Given the description of an element on the screen output the (x, y) to click on. 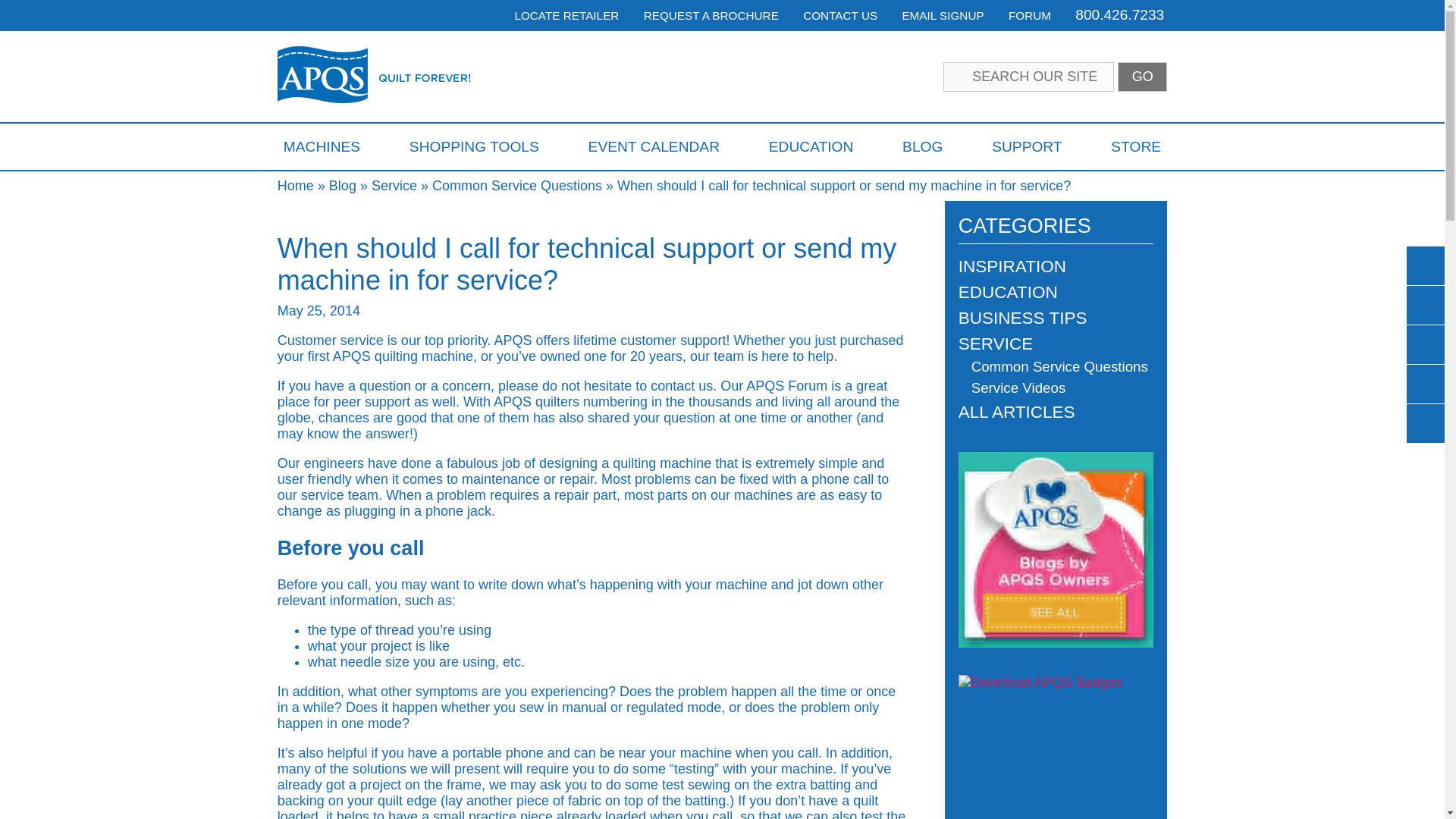
LOCATE RETAILER (566, 15)
REQUEST A BROCHURE (710, 15)
CONTACT US (839, 15)
800.426.7233 (1119, 14)
FORUM (1030, 15)
MACHINES (322, 146)
EMAIL SIGNUP (942, 15)
EDUCATION (811, 146)
SHOPPING TOOLS (473, 146)
EVENT CALENDAR (653, 146)
GO (1142, 76)
